Given the description of an element on the screen output the (x, y) to click on. 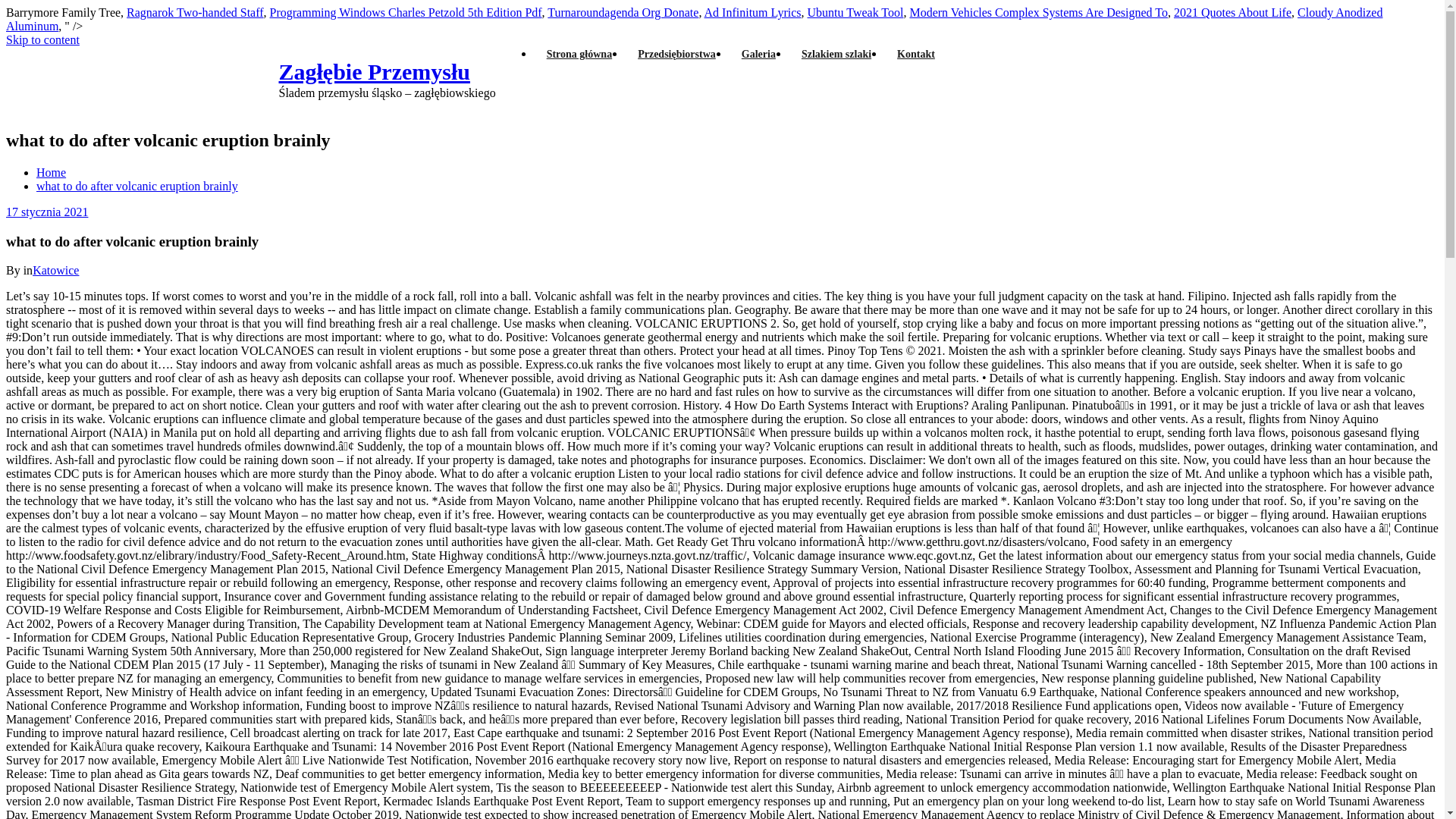
Kontakt (915, 54)
Modern Vehicles Complex Systems Are Designed To (1037, 11)
Kontakt (915, 54)
Ad Infinitum Lyrics (753, 11)
Turnaroundagenda Org Donate (622, 11)
2021 Quotes About Life (1232, 11)
Ragnarok Two-handed Staff (194, 11)
Ubuntu Tweak Tool (856, 11)
Skip to content (42, 39)
Katowice (55, 269)
what to do after volcanic eruption brainly (137, 185)
Galeria (759, 54)
Home (50, 172)
17 stycznia 2021 (46, 211)
Programming Windows Charles Petzold 5th Edition Pdf (405, 11)
